Given the description of an element on the screen output the (x, y) to click on. 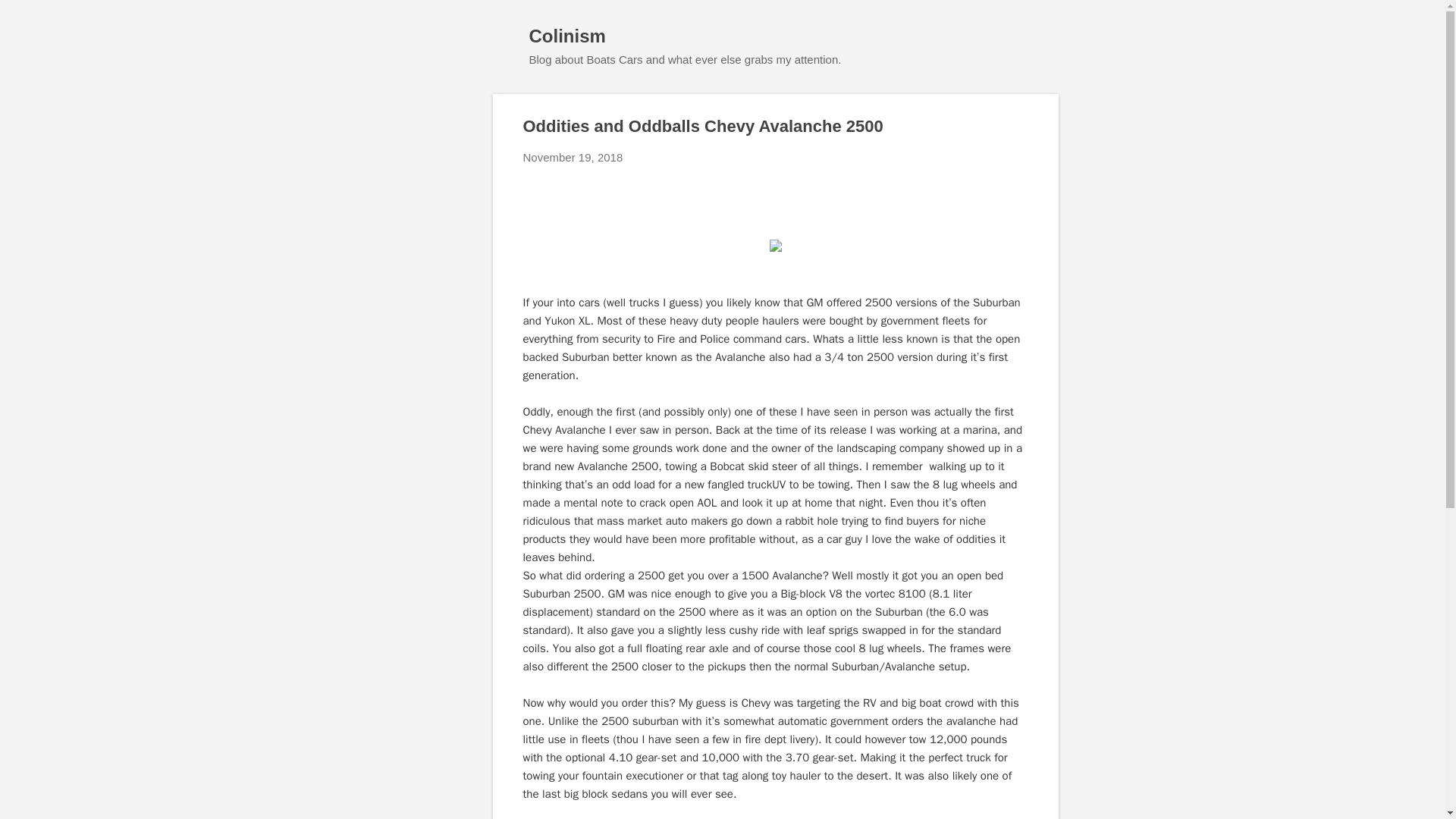
Search (29, 18)
permanent link (572, 156)
November 19, 2018 (572, 156)
Colinism (567, 35)
